Given the description of an element on the screen output the (x, y) to click on. 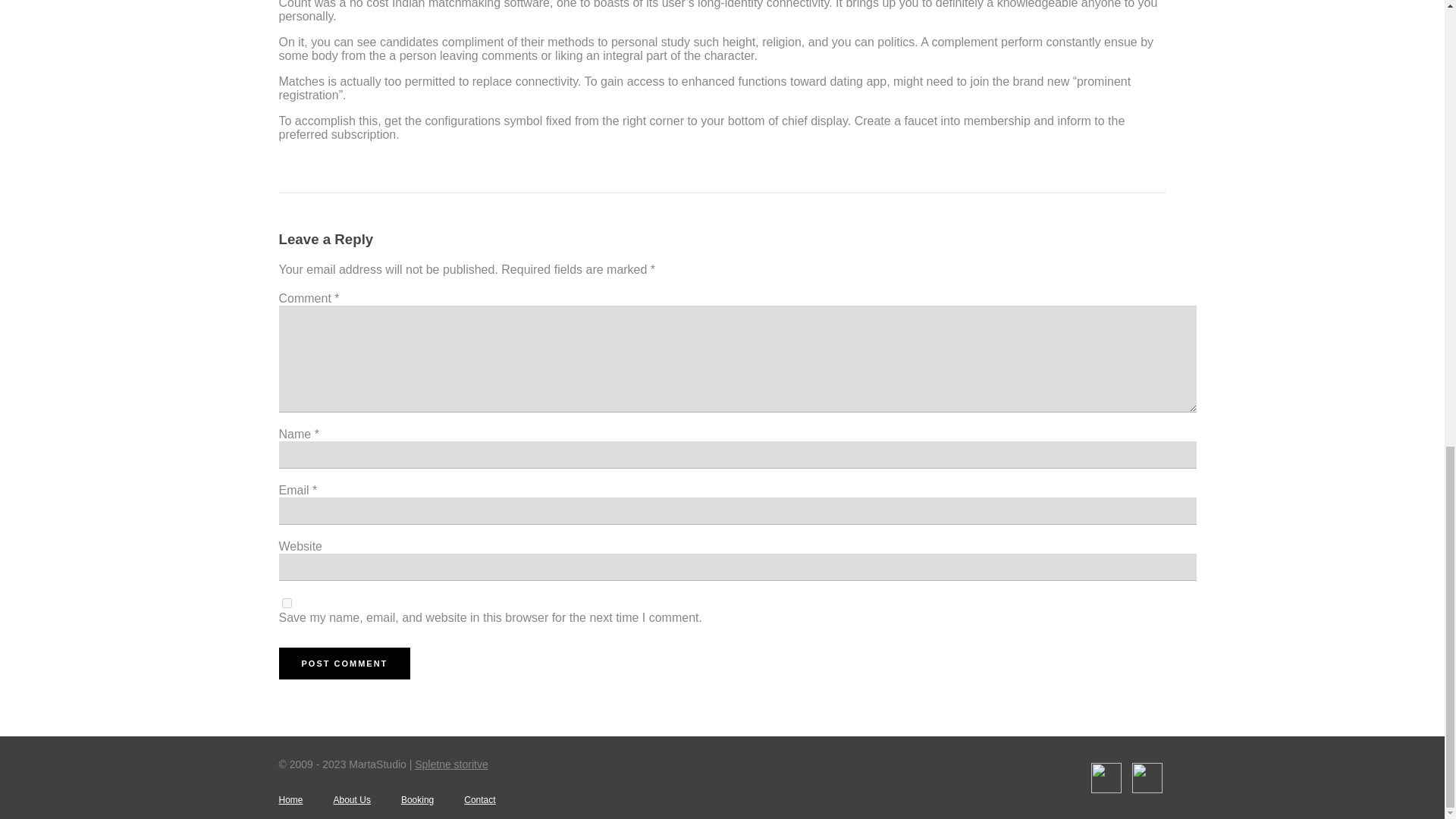
Booking (417, 799)
Post Comment (344, 663)
About Us (352, 799)
Post Comment (344, 663)
Contact (479, 799)
Spletne storitve (450, 764)
Home (290, 799)
yes (287, 603)
